Given the description of an element on the screen output the (x, y) to click on. 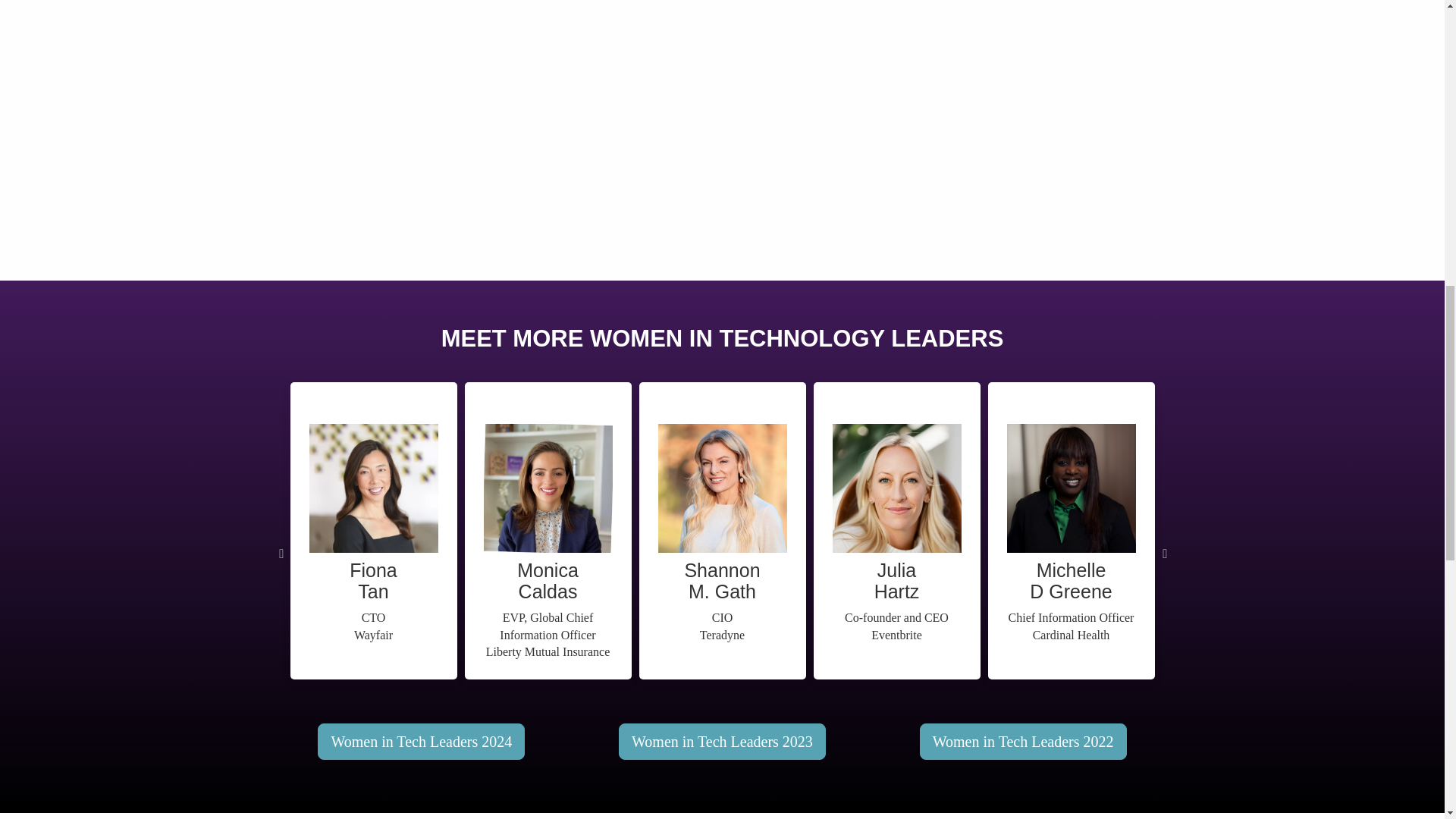
fiona-tan.jpeg (373, 488)
shannon-gath.jpeg (722, 488)
mg.png (1071, 488)
julia-hartz.jpeg (896, 488)
monica-caldas.jpg (547, 488)
